Given the description of an element on the screen output the (x, y) to click on. 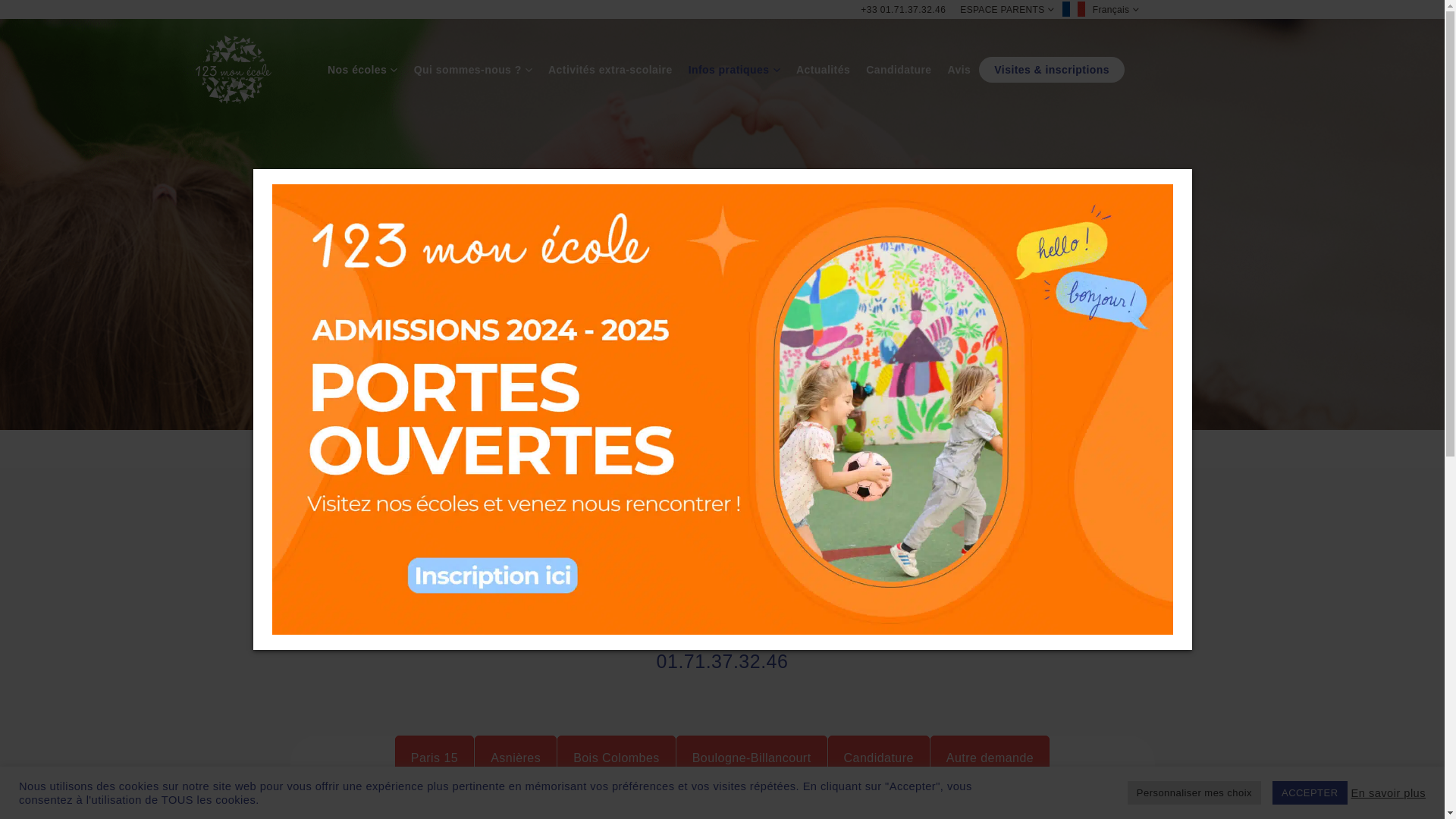
Autre demande Element type: text (989, 758)
nicetomeet Element type: hover (722, 516)
Paris 15 Element type: text (434, 758)
Bois Colombes Element type: text (616, 758)
Avis Element type: text (959, 69)
Boulogne-Billancourt Element type: text (751, 758)
Visites & inscriptions Element type: text (1051, 69)
Qui sommes-nous ? Element type: text (472, 69)
Candidature Element type: text (878, 758)
Infos pratiques Element type: text (733, 69)
ESPACE PARENTS Element type: text (1006, 9)
+33 01.71.37.32.46 Element type: text (902, 9)
ACCEPTER Element type: text (1309, 792)
En savoir plus Element type: text (1388, 792)
Personnaliser mes choix Element type: text (1194, 792)
Candidature Element type: text (898, 69)
